Given the description of an element on the screen output the (x, y) to click on. 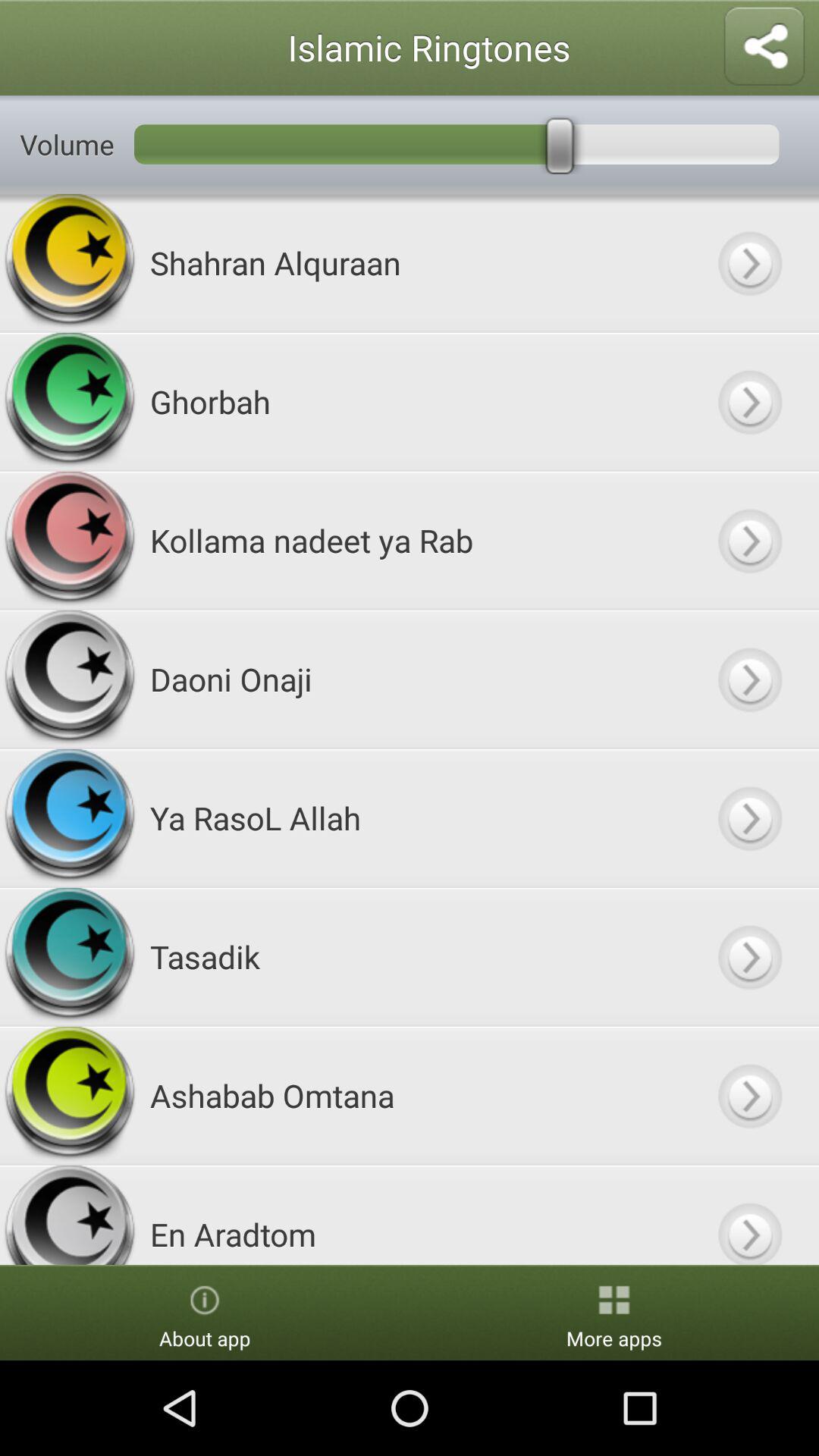
play sound (749, 818)
